Given the description of an element on the screen output the (x, y) to click on. 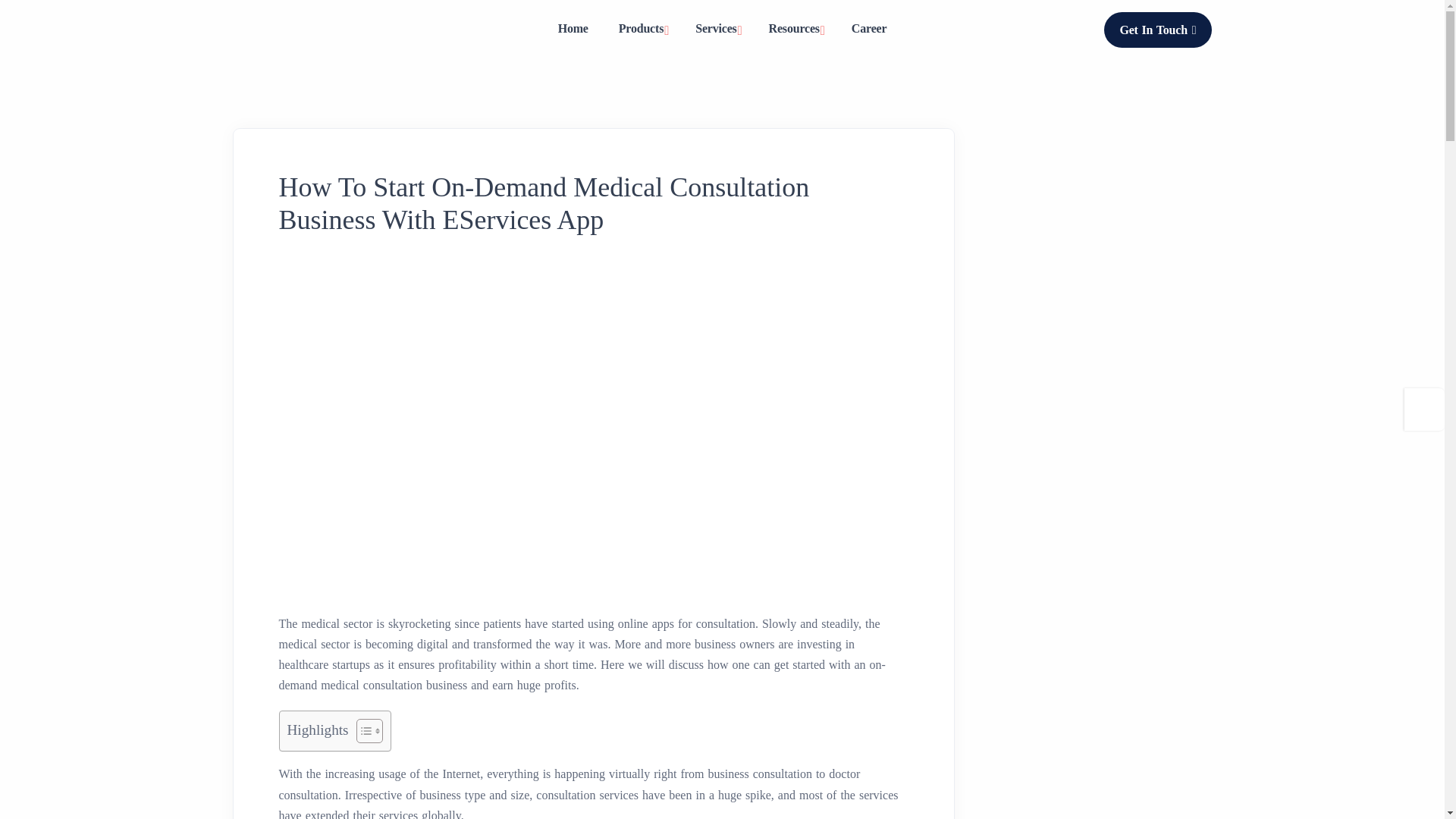
Services (715, 30)
Products (641, 30)
Home (573, 28)
